Given the description of an element on the screen output the (x, y) to click on. 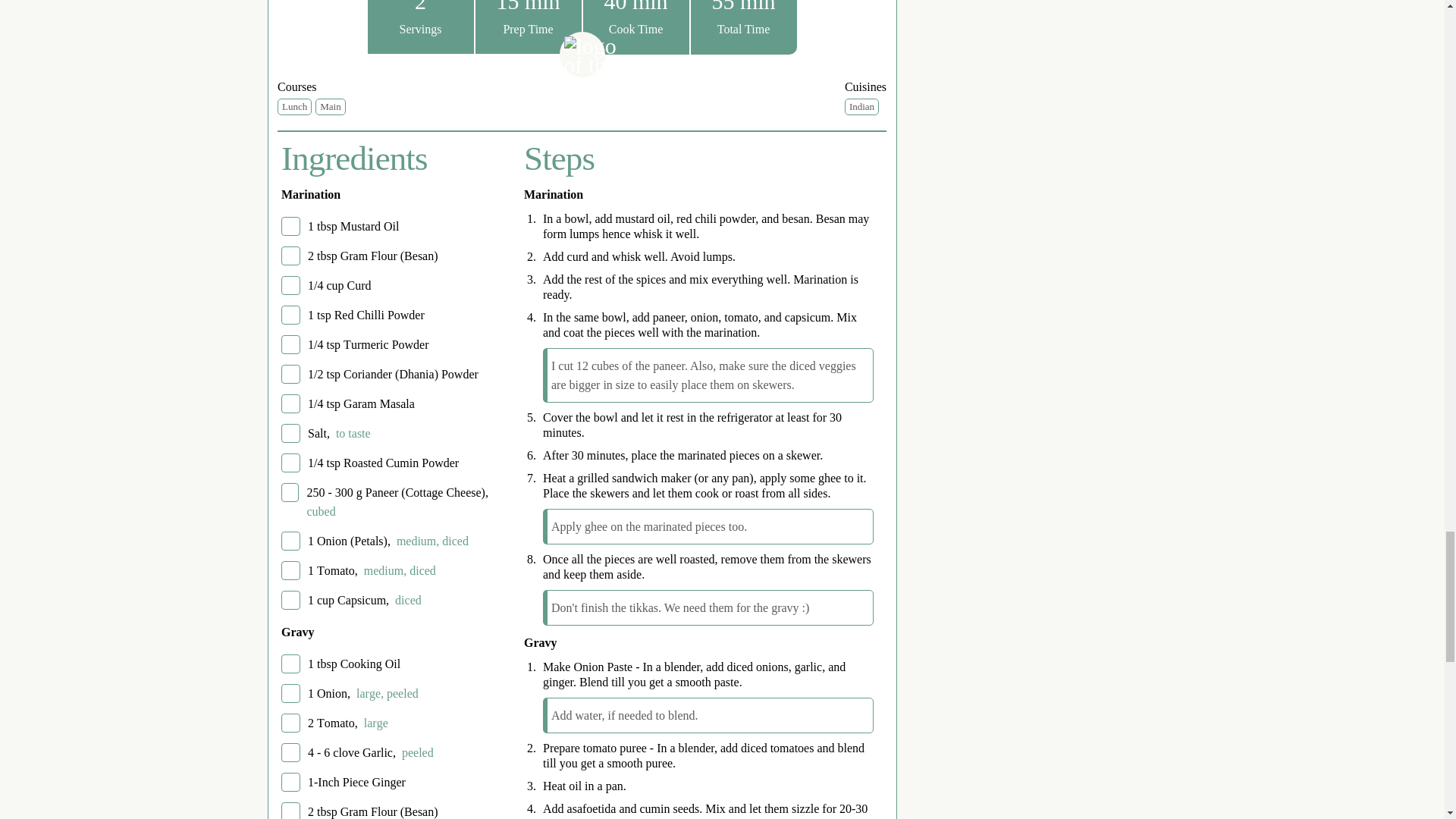
Indian (861, 105)
on (290, 663)
on (290, 570)
on (290, 692)
on (290, 540)
Main (330, 105)
on (290, 810)
Lunch (294, 105)
on (289, 492)
on (290, 433)
on (290, 314)
on (290, 752)
on (290, 722)
on (290, 599)
on (290, 343)
